Given the description of an element on the screen output the (x, y) to click on. 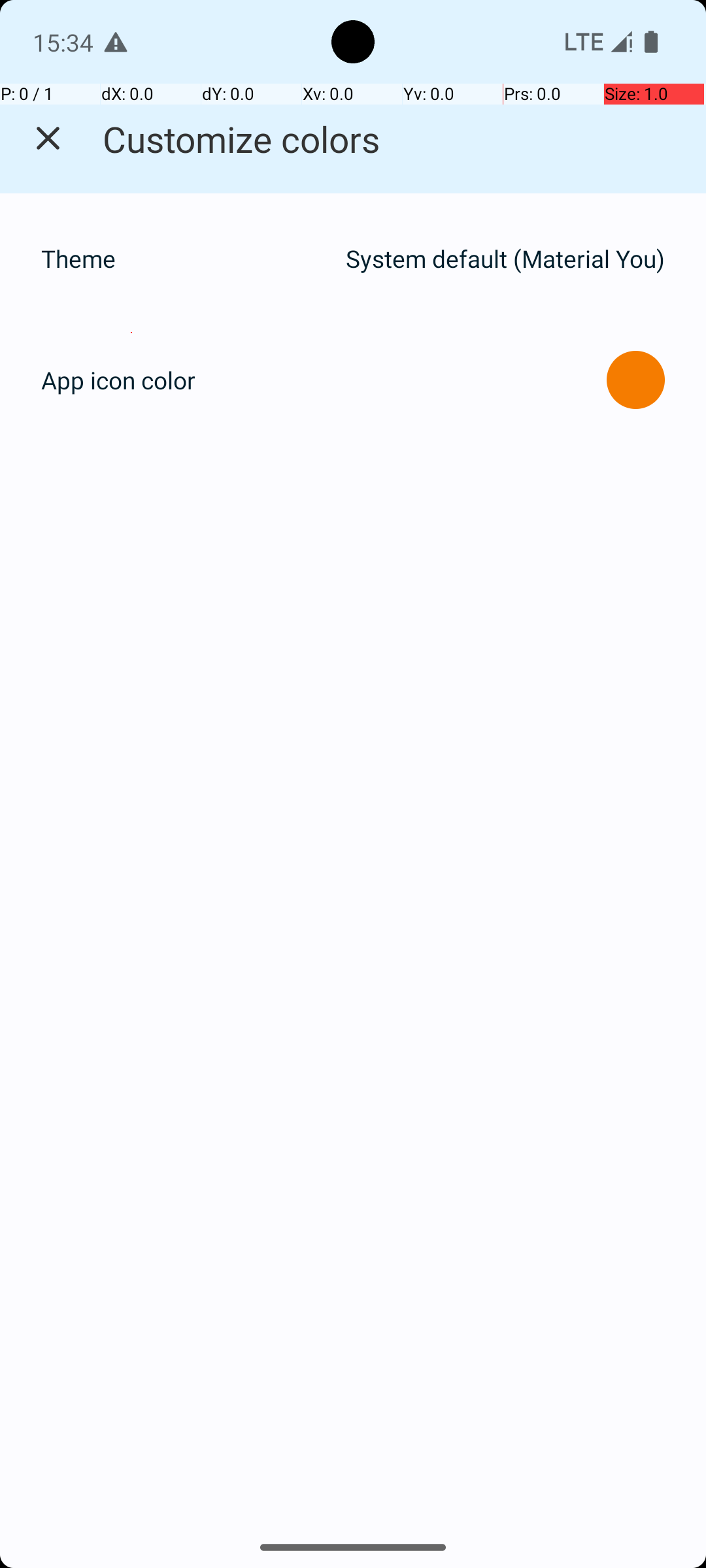
Customize colors Element type: android.widget.TextView (241, 138)
System default (Material You) Element type: android.widget.TextView (504, 258)
App icon color Element type: android.widget.TextView (118, 379)
